Given the description of an element on the screen output the (x, y) to click on. 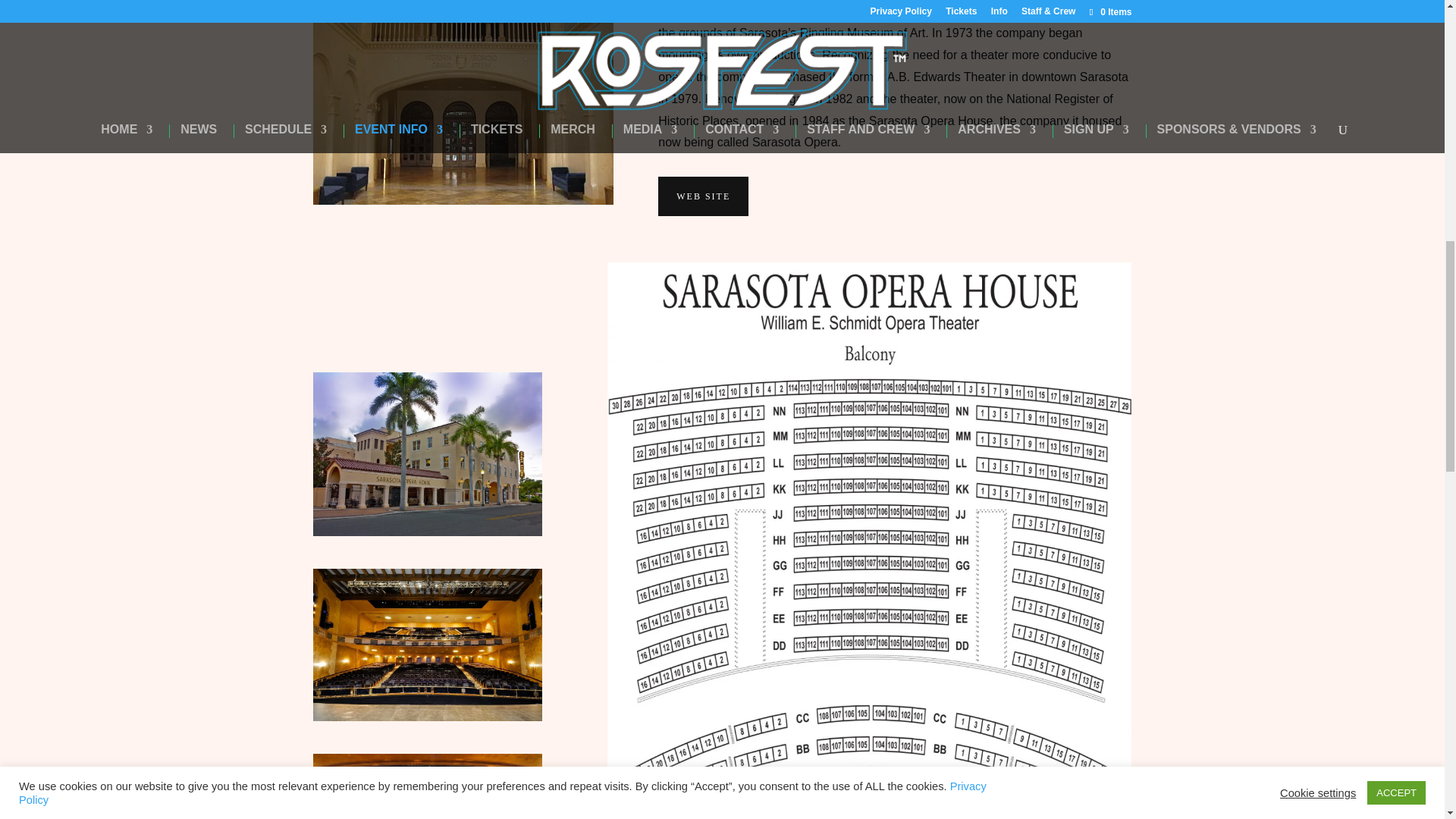
SOH-2 (427, 786)
Sarasota-Opera-House1 (427, 644)
RMK-Srq-Opera-04-968x691 (427, 454)
Sarasota-Opera-House-atrium (462, 102)
